Given the description of an element on the screen output the (x, y) to click on. 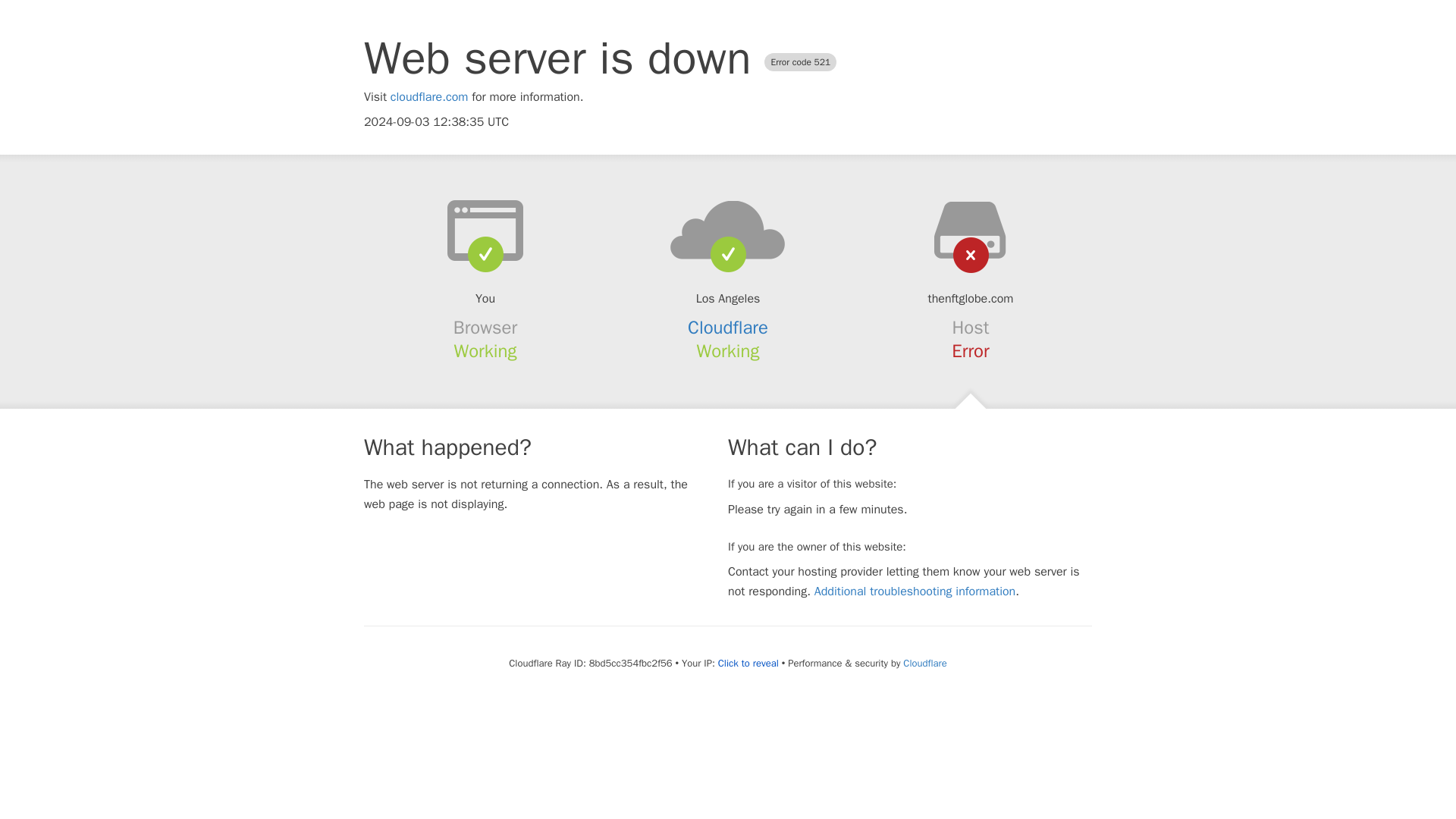
Additional troubleshooting information (913, 590)
Click to reveal (747, 663)
Cloudflare (727, 327)
cloudflare.com (429, 96)
Cloudflare (924, 662)
